Given the description of an element on the screen output the (x, y) to click on. 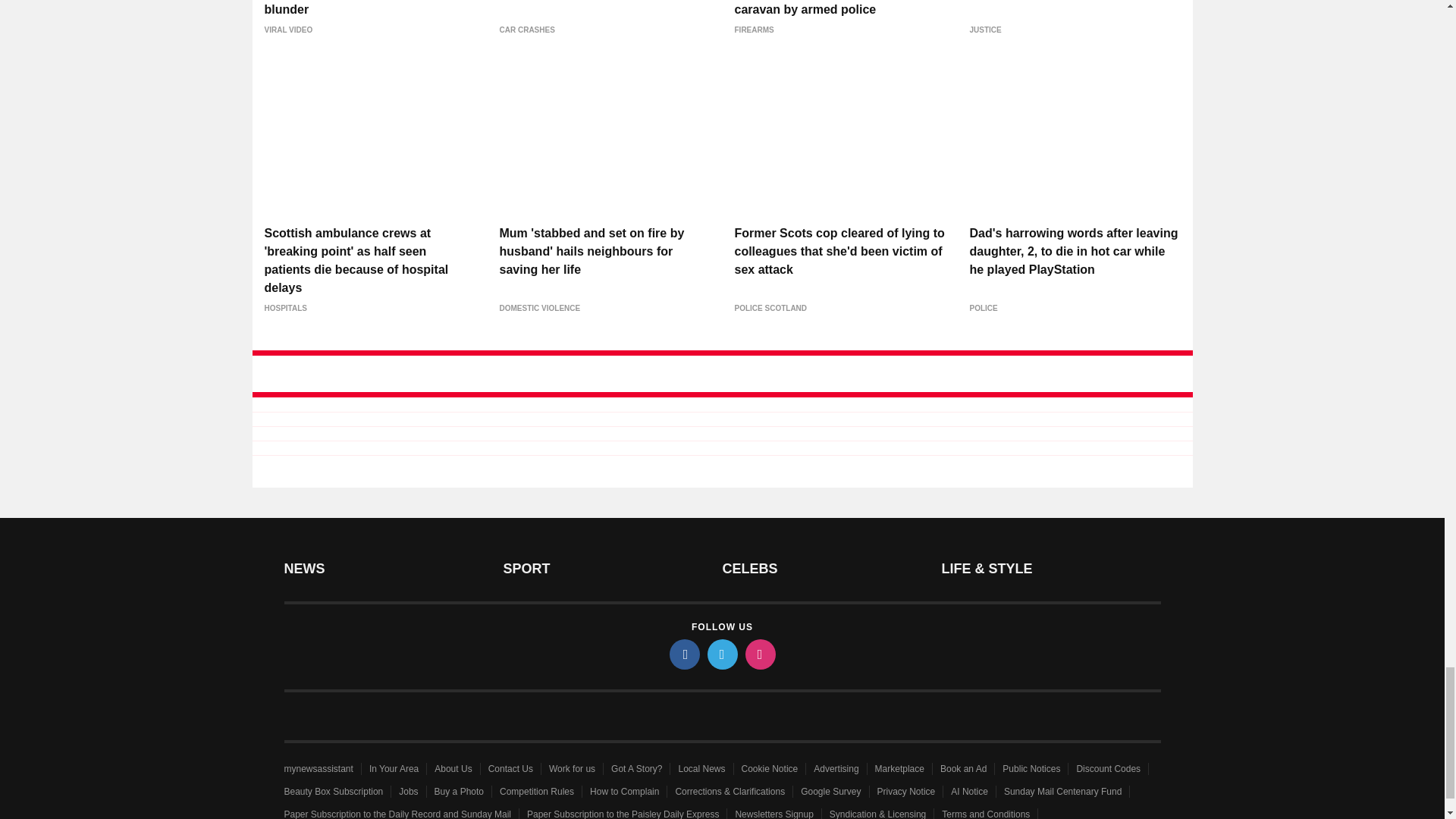
instagram (759, 654)
facebook (683, 654)
twitter (721, 654)
